Given the description of an element on the screen output the (x, y) to click on. 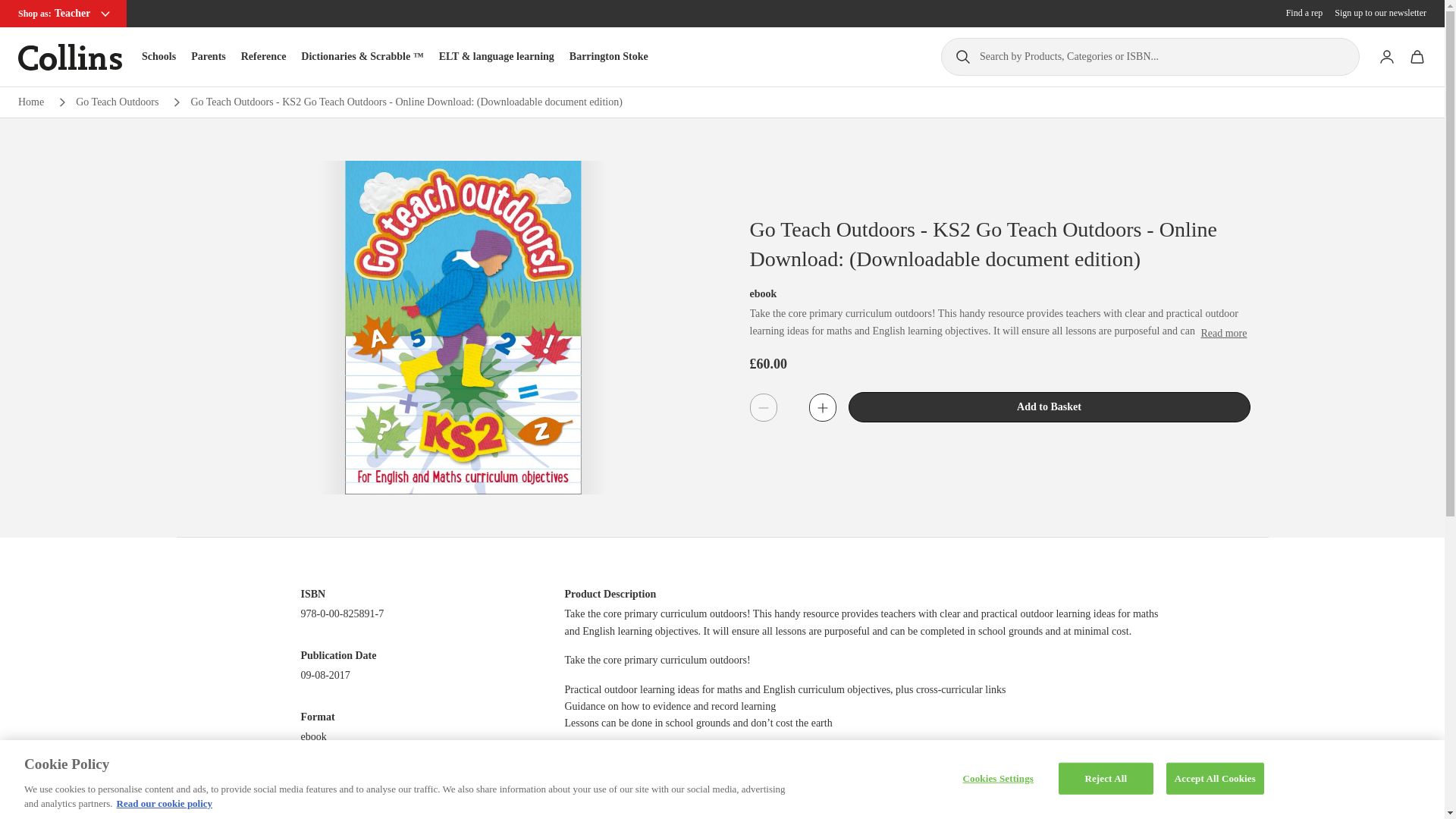
Go Teach Outdoors (116, 102)
Home (30, 102)
Reference (264, 56)
Increase quantity (821, 406)
Toggle cart (1417, 56)
Schools (158, 56)
Sign up to our newsletter (1380, 12)
Find a rep (1304, 12)
Add to Basket (1048, 407)
Barrington Stoke (608, 56)
Read more (1222, 333)
Account (1386, 56)
Read all about Go Teach Outdoors (116, 102)
